Given the description of an element on the screen output the (x, y) to click on. 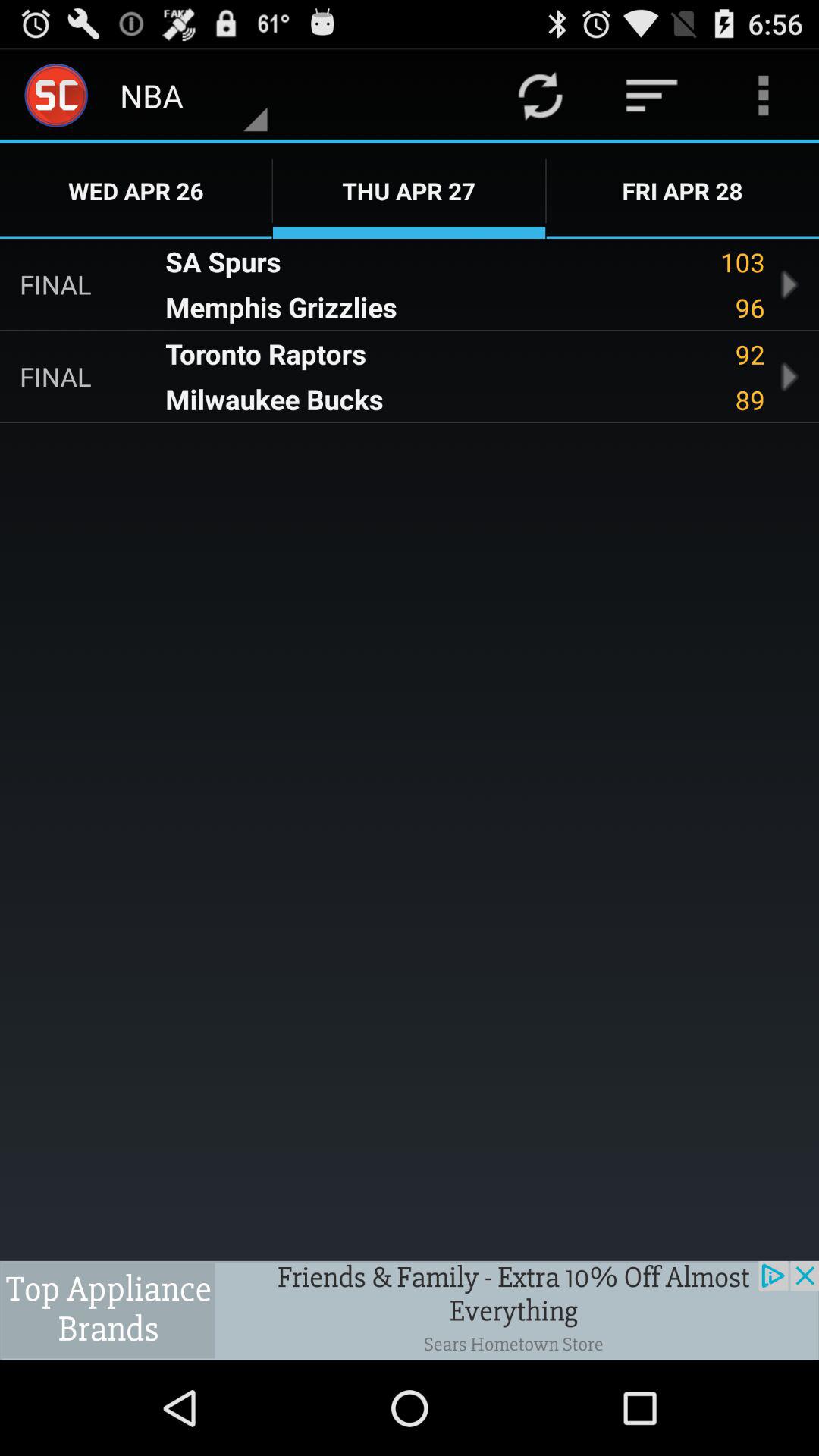
select the right scroll bar in the bottom (789, 376)
select the option in the top right corner (763, 95)
